Given the description of an element on the screen output the (x, y) to click on. 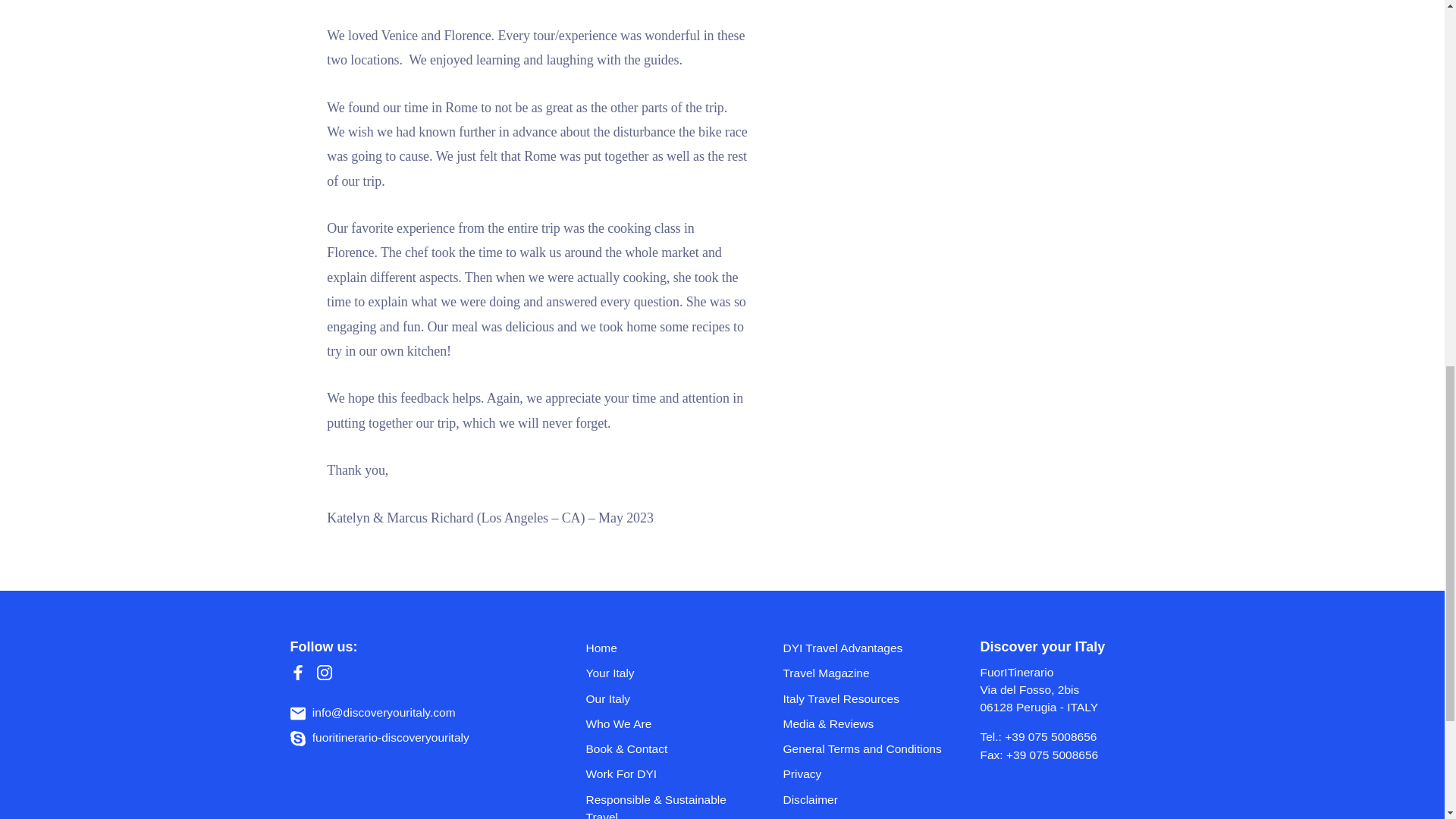
General Terms and Conditions (861, 748)
DYI Travel Advantages (842, 647)
Who We Are (617, 723)
Disclaimer (810, 799)
fuoritinerario-discoveryouritaly (378, 737)
Your Italy (609, 672)
Privacy (802, 773)
Italy Travel Resources (841, 698)
Home (600, 647)
Work For DYI (620, 773)
Our Italy (607, 698)
Travel Magazine (826, 672)
